Given the description of an element on the screen output the (x, y) to click on. 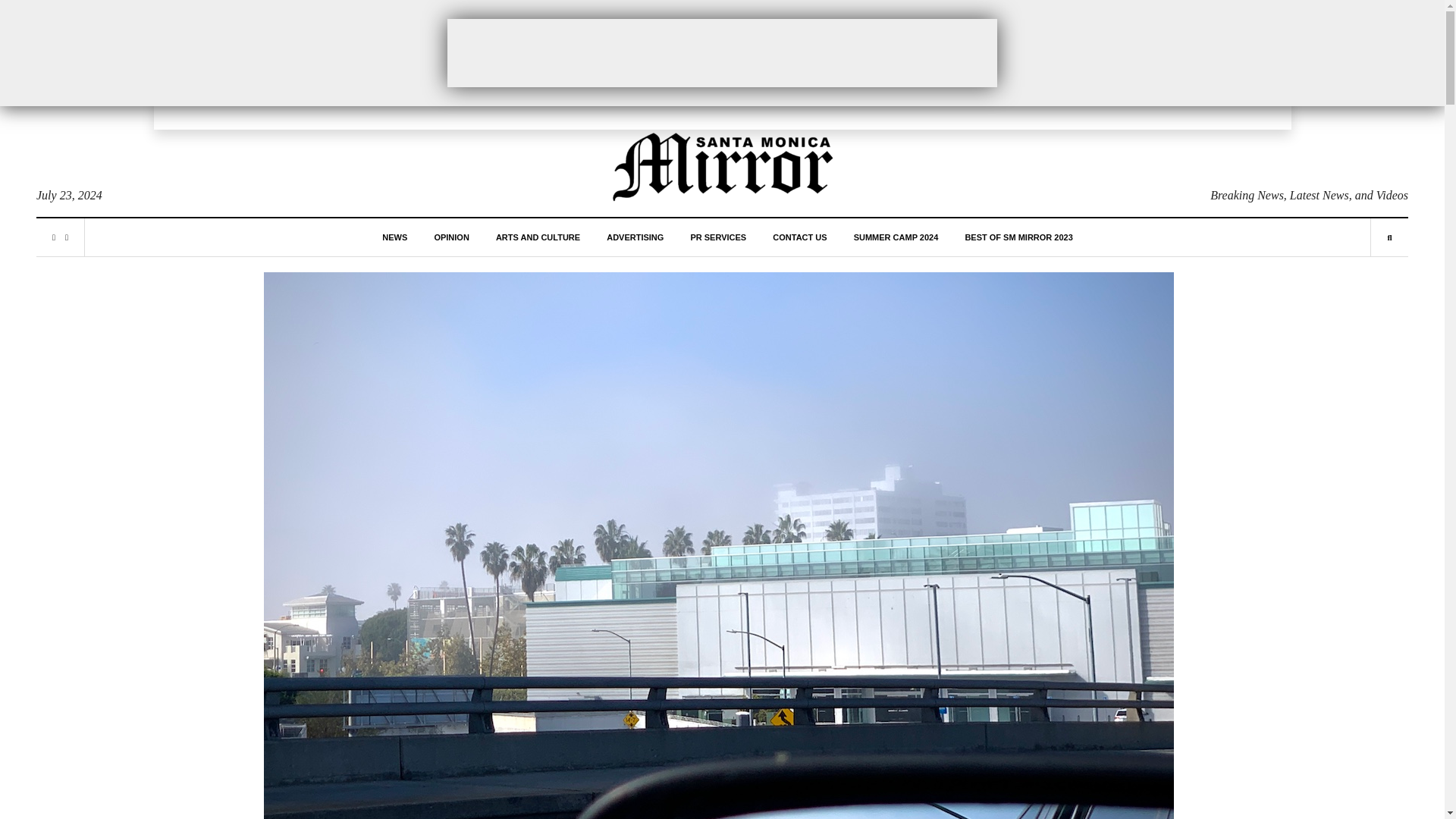
OPINION (450, 237)
3rd party ad content (721, 52)
PR SERVICES (717, 237)
SUMMER CAMP 2024 (896, 237)
ARTS AND CULTURE (537, 237)
ADVERTISING (635, 237)
BEST OF SM MIRROR 2023 (1017, 237)
CONTACT US (800, 237)
